Given the description of an element on the screen output the (x, y) to click on. 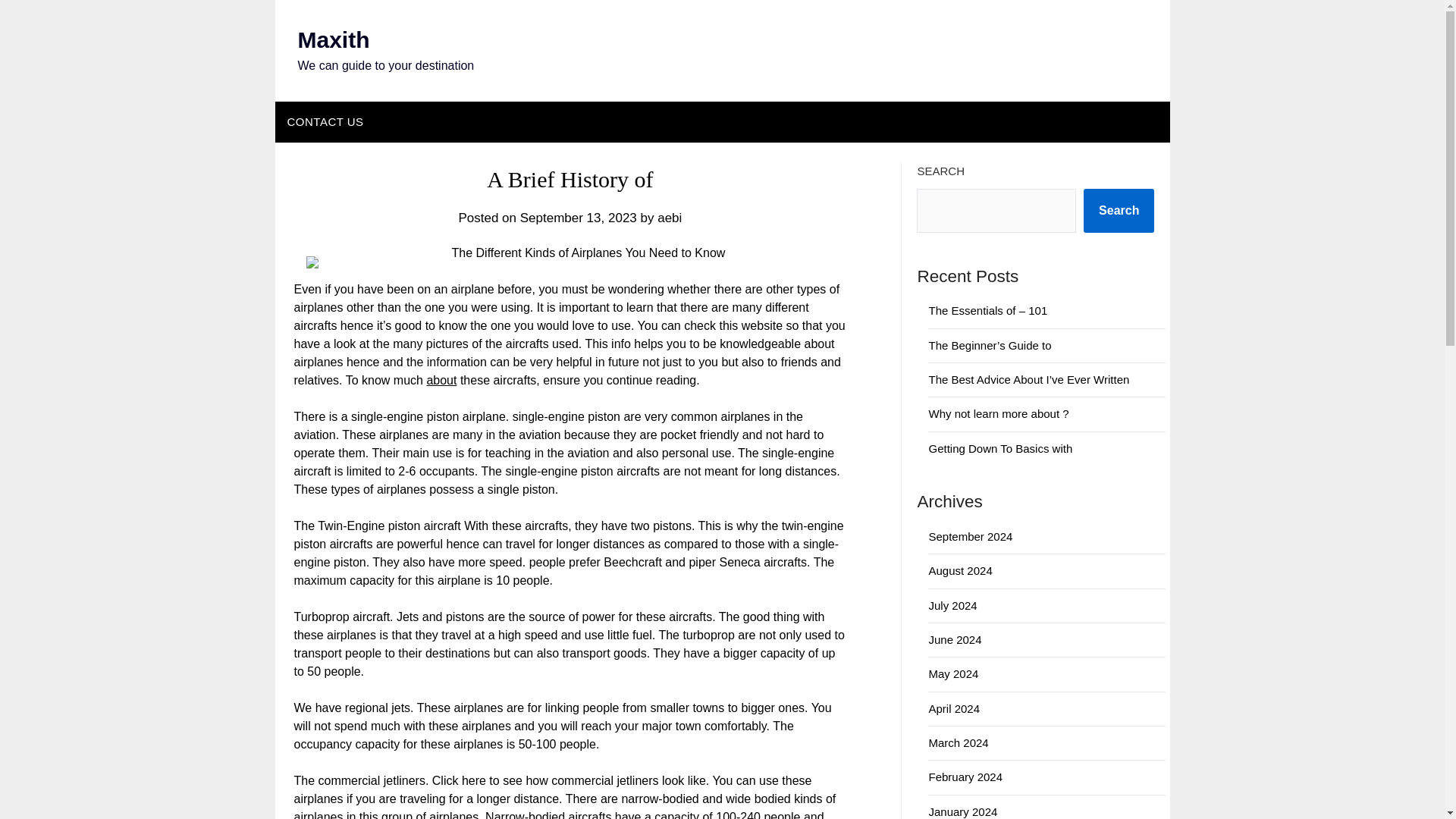
May 2024 (953, 673)
January 2024 (962, 811)
CONTACT US (325, 121)
Why not learn more about ? (998, 413)
June 2024 (954, 639)
September 2024 (969, 535)
March 2024 (958, 742)
Search (1118, 210)
July 2024 (952, 604)
Maxith (333, 39)
